Given the description of an element on the screen output the (x, y) to click on. 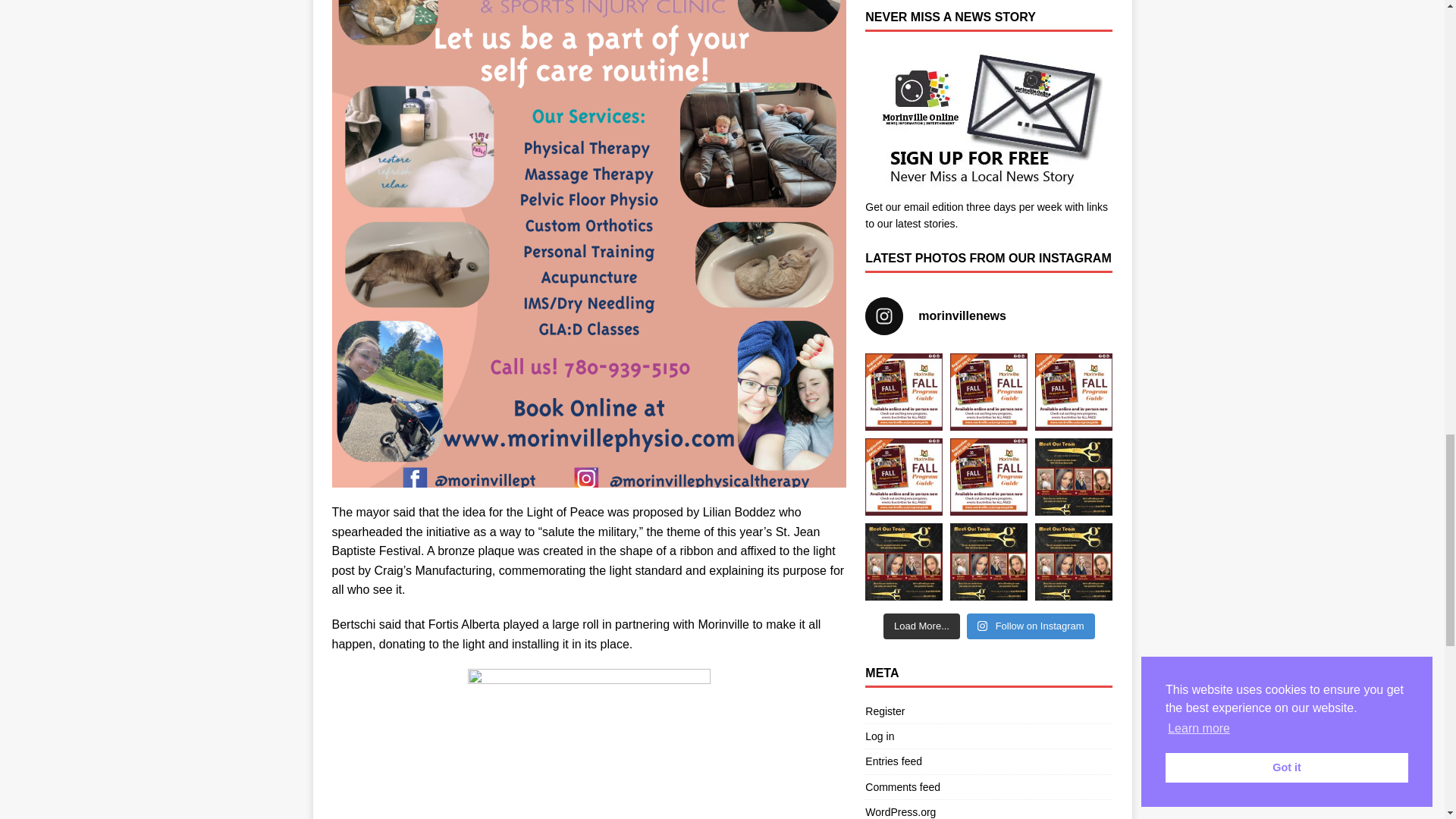
Lightsign2 (588, 744)
